Given the description of an element on the screen output the (x, y) to click on. 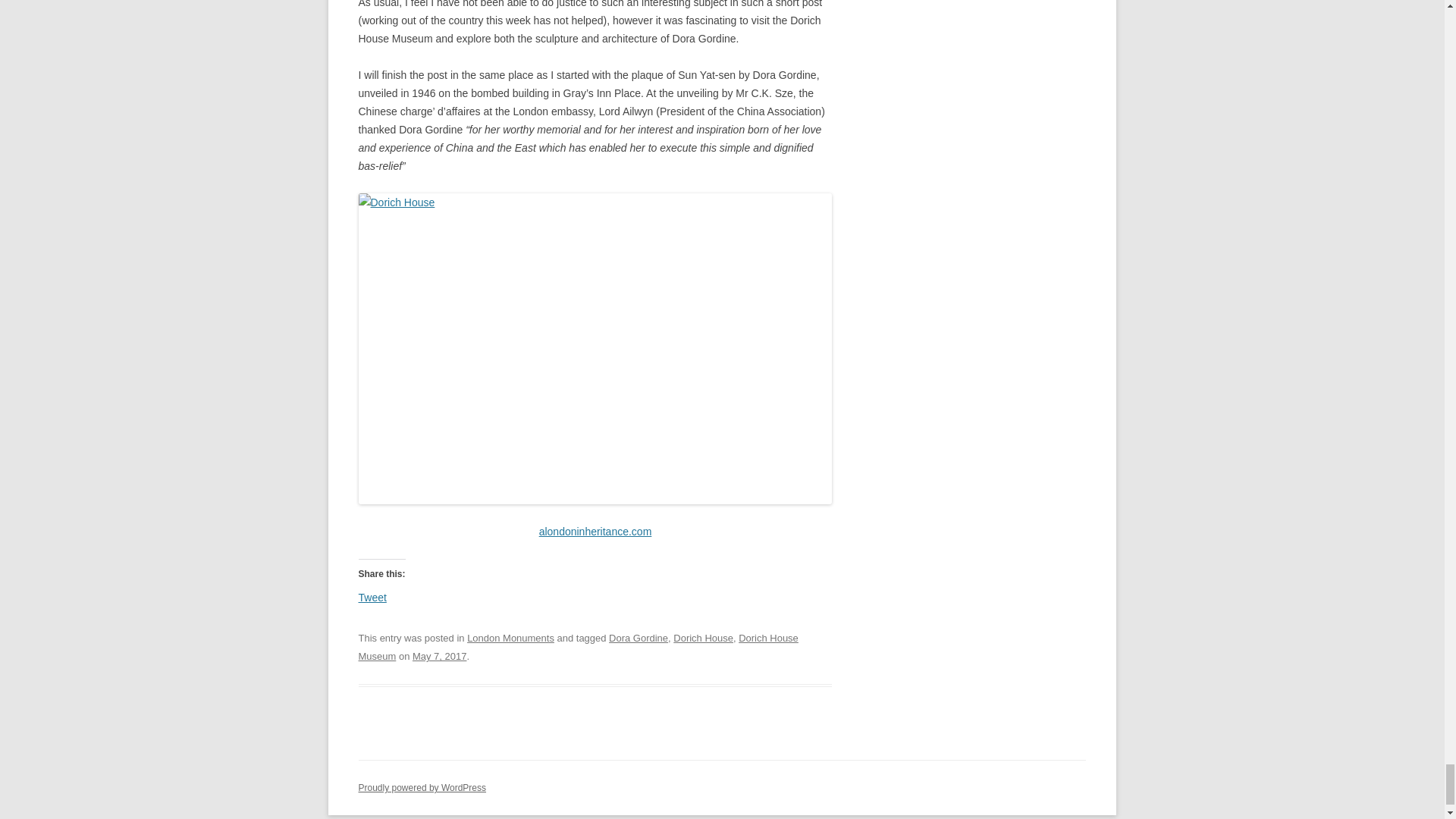
7:03 am (438, 655)
Semantic Personal Publishing Platform (422, 787)
